Given the description of an element on the screen output the (x, y) to click on. 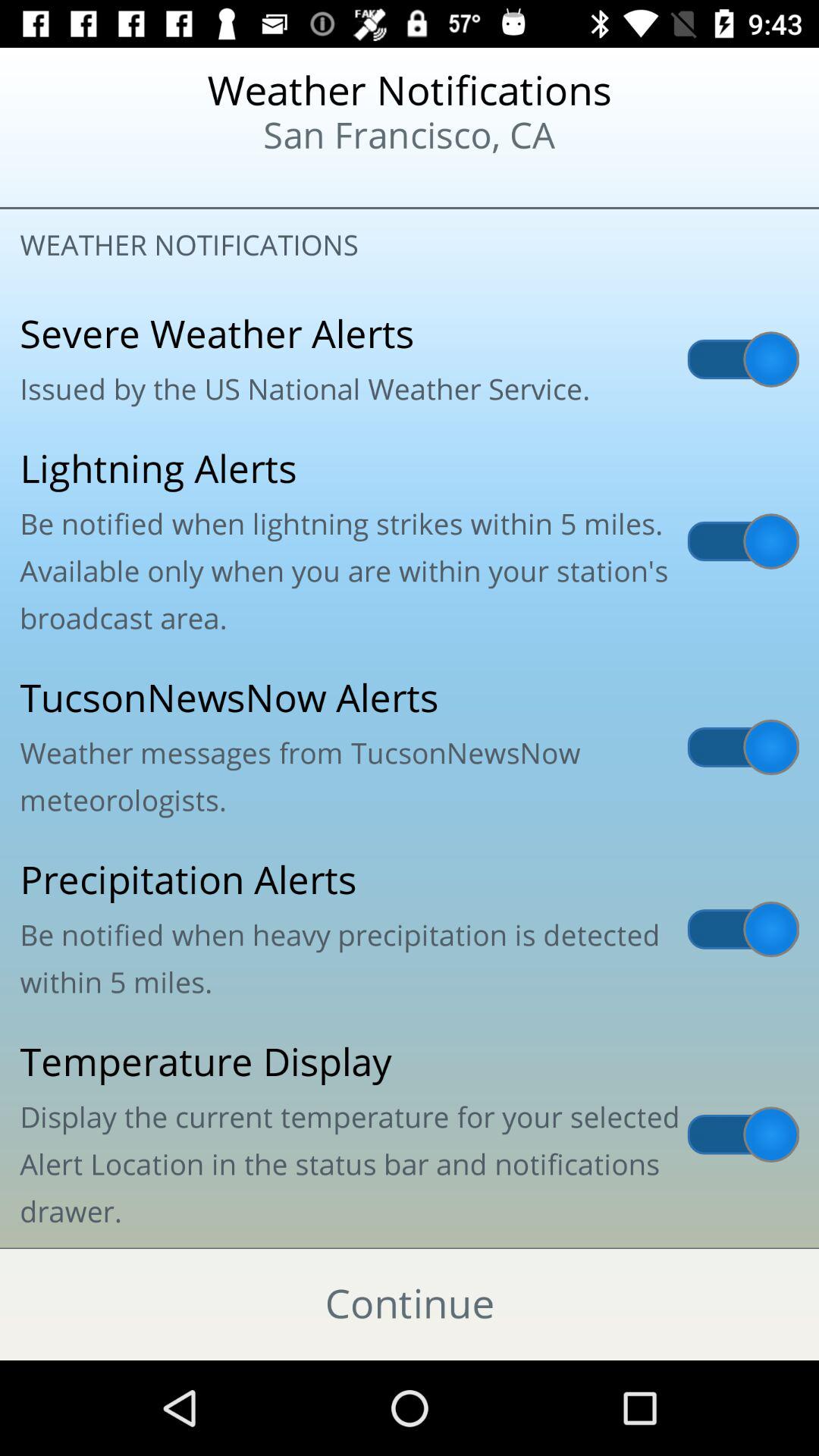
the first two line of the page mentioned at top center of the page (409, 114)
